Given the description of an element on the screen output the (x, y) to click on. 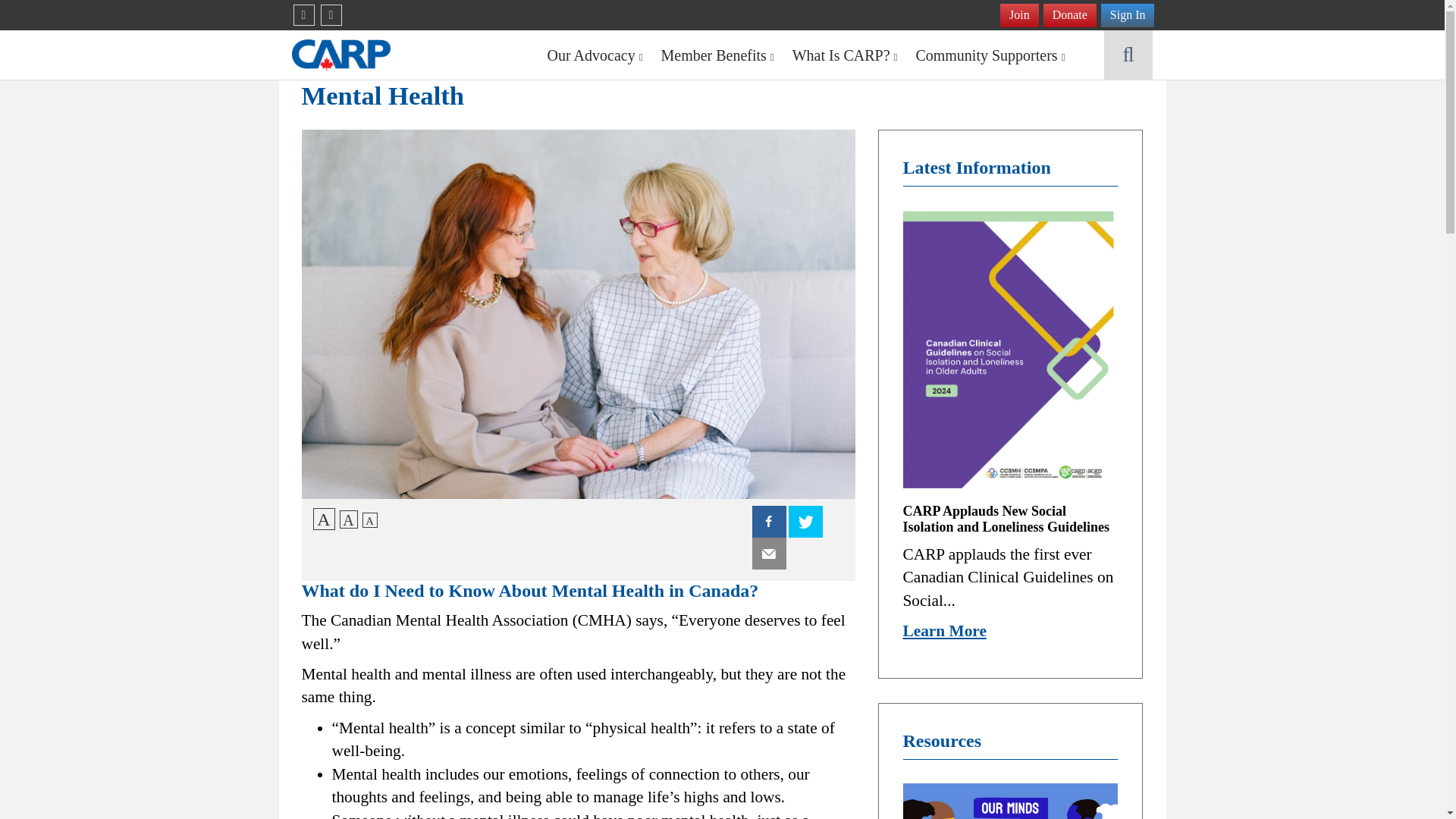
Join (1019, 15)
Sign In (1127, 15)
Donate (1069, 15)
